Given the description of an element on the screen output the (x, y) to click on. 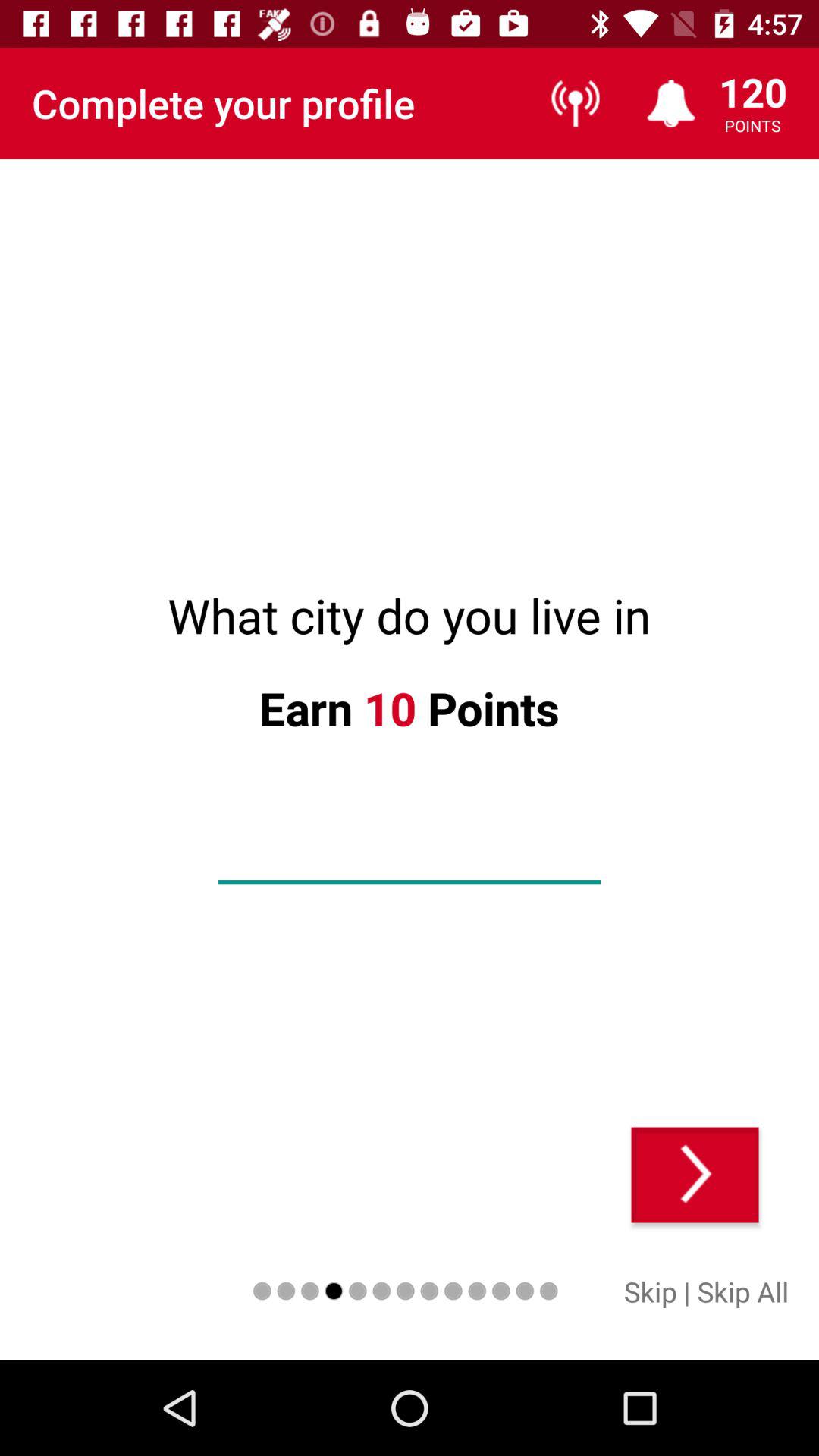
launch the icon to the right of the  |  item (742, 1291)
